Given the description of an element on the screen output the (x, y) to click on. 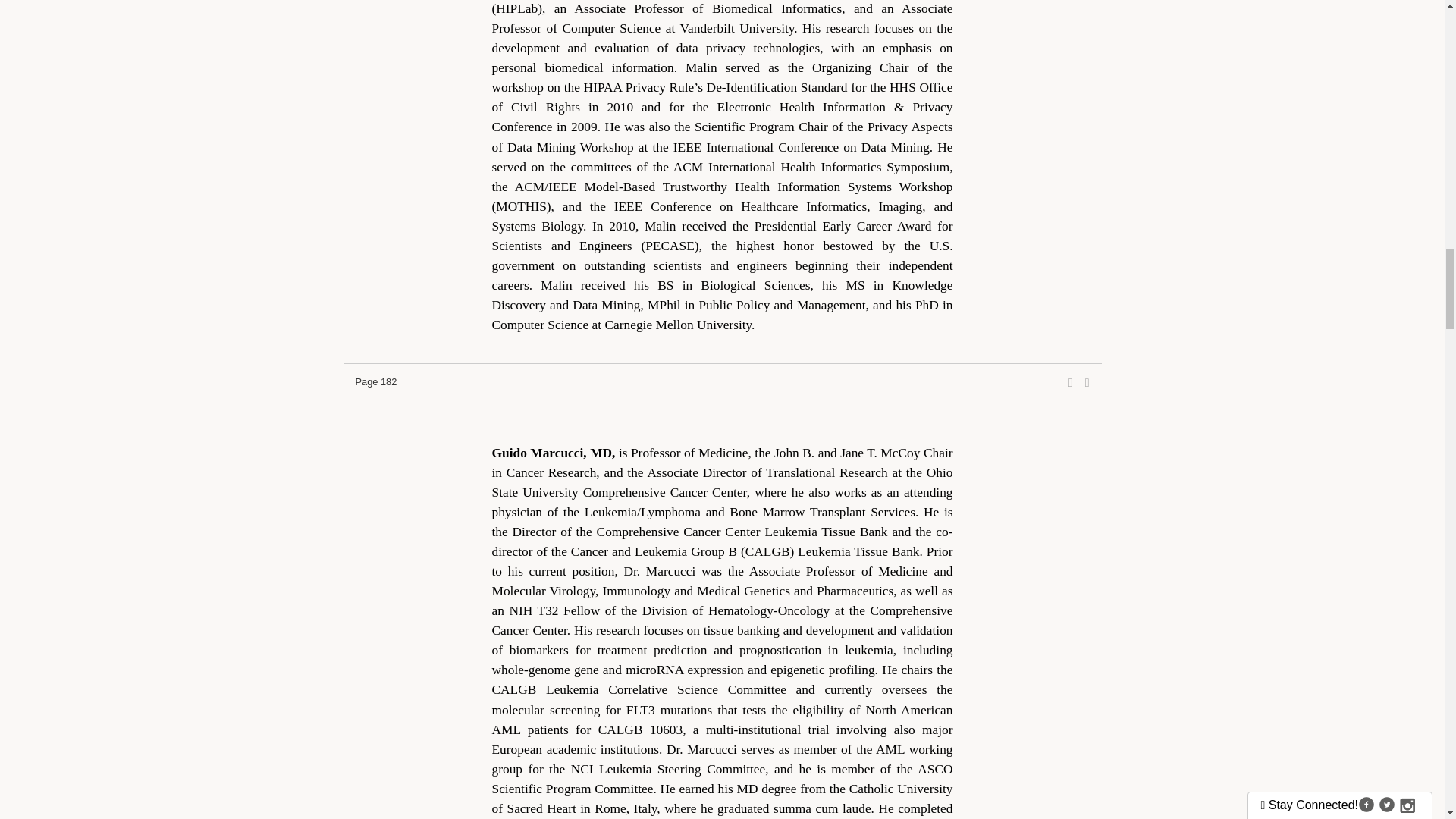
Share this page (1070, 382)
Cite this page (1086, 382)
